Given the description of an element on the screen output the (x, y) to click on. 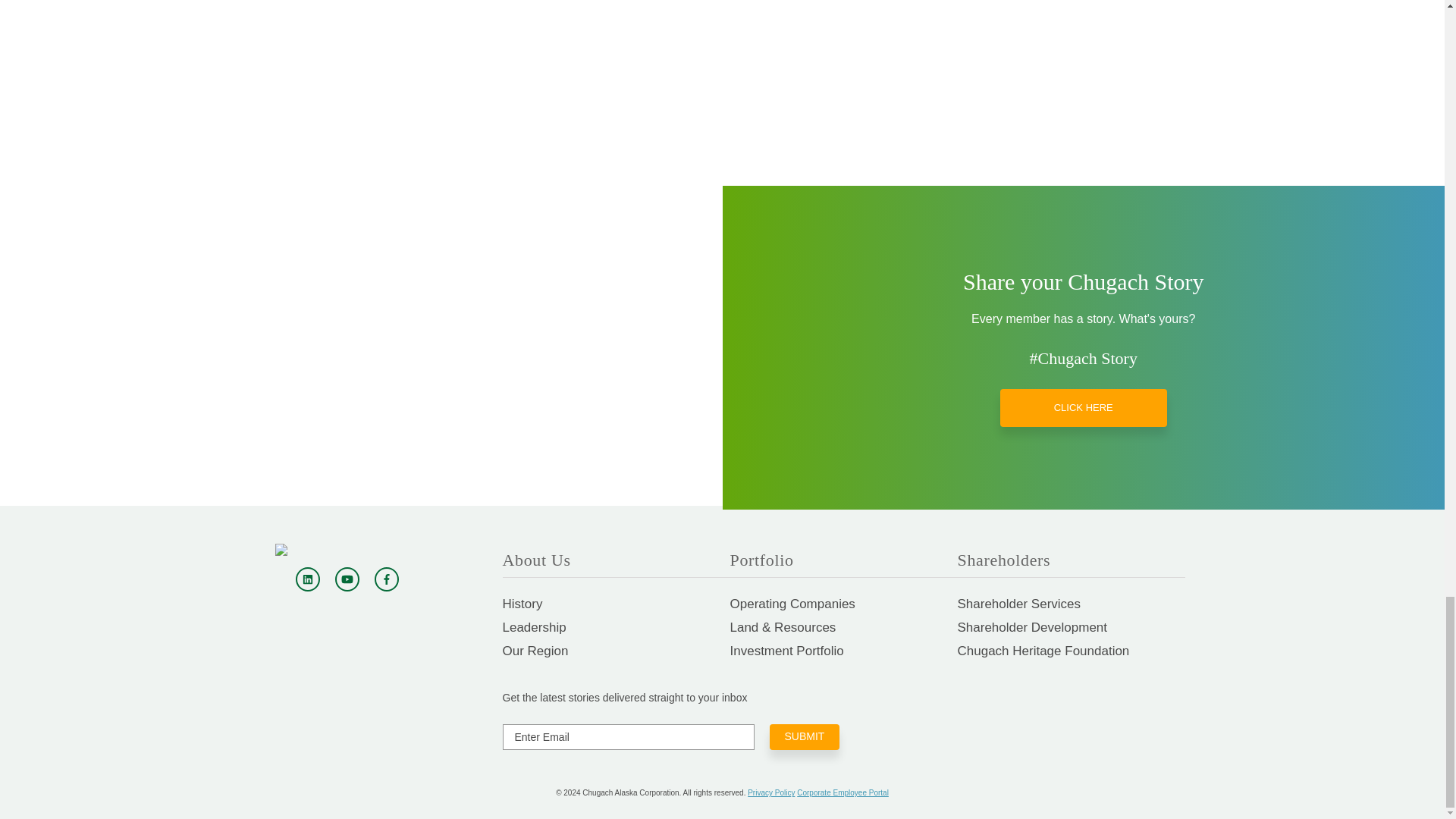
Youtube (346, 579)
Linkedin (307, 579)
Facebook (386, 579)
Chugach Corp (347, 549)
